Given the description of an element on the screen output the (x, y) to click on. 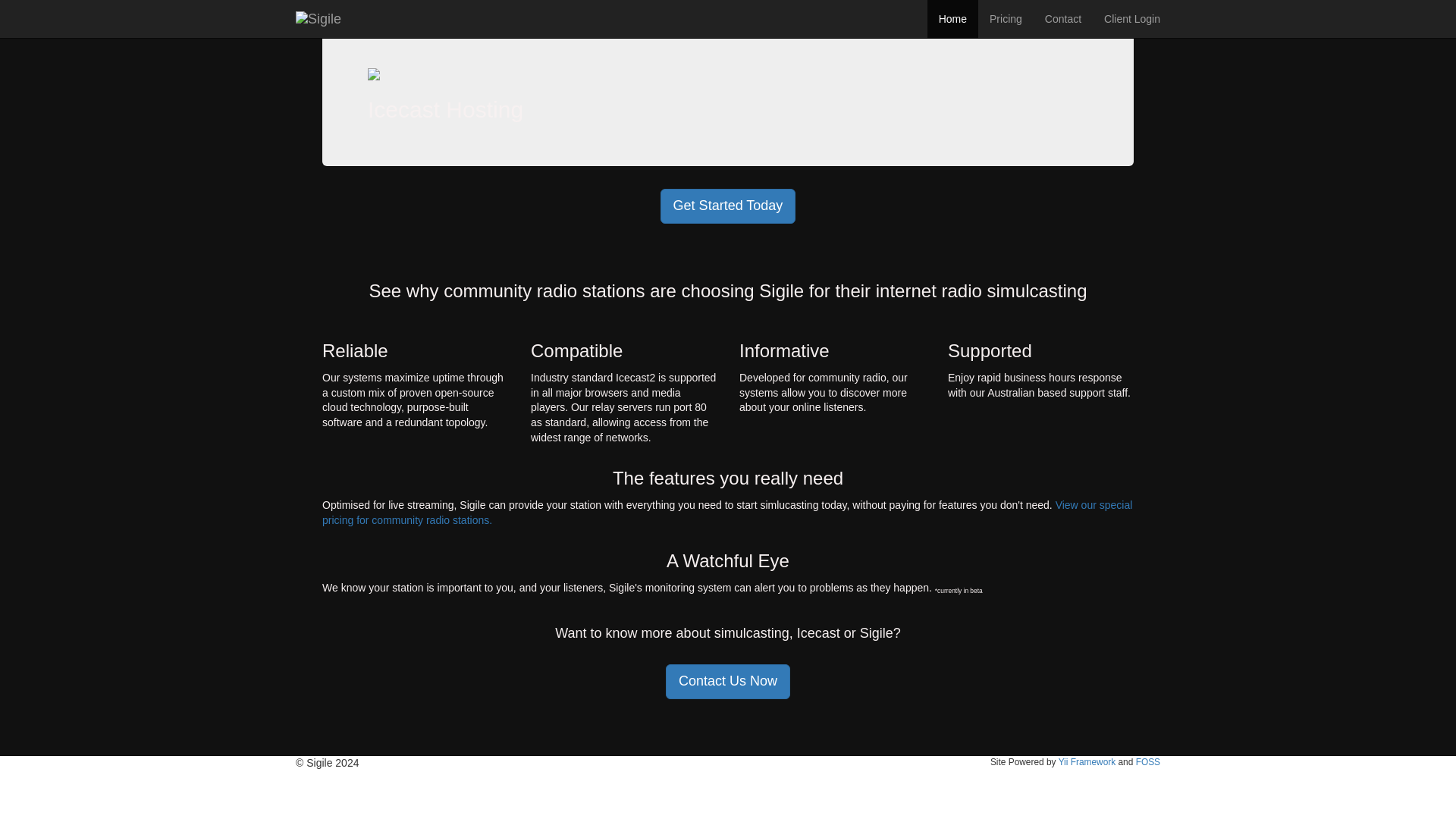
Get Started Today (728, 206)
Client Login (1132, 18)
Yii Framework (1087, 761)
FOSS (1147, 761)
Contact (1063, 18)
Pricing (1005, 18)
Home (952, 18)
Contact Us Now (727, 681)
View our special pricing for community radio stations. (726, 512)
